Given the description of an element on the screen output the (x, y) to click on. 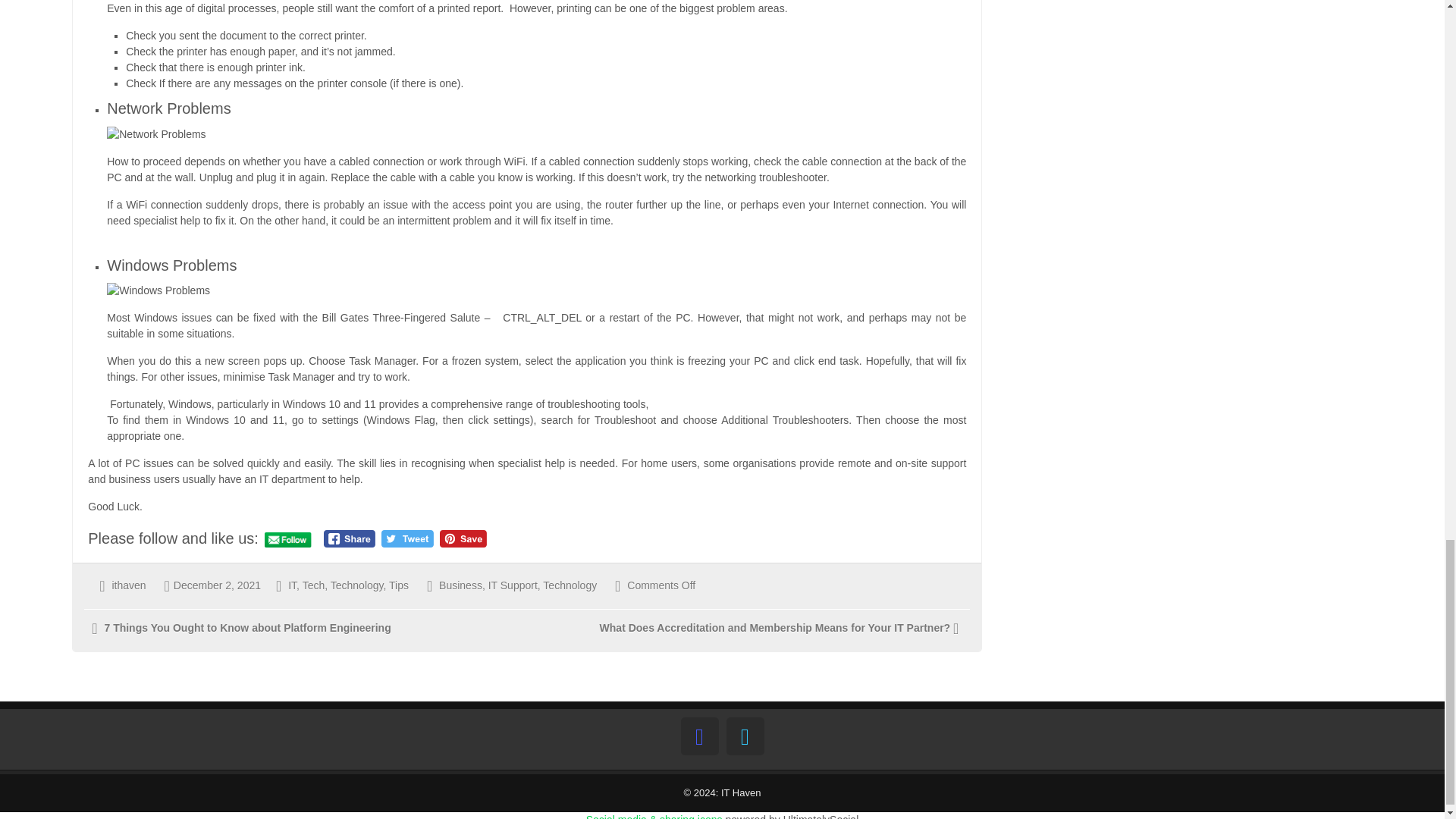
ithaven (128, 585)
7 Things You Ought to Know about Platform Engineering (246, 627)
Technology (357, 585)
IT Support (512, 585)
Tweet (407, 538)
Posts by ithaven (128, 585)
Facebook Share (349, 538)
Tips (398, 585)
Pin Share (462, 538)
Tech (313, 585)
Technology (569, 585)
Business (460, 585)
